Given the description of an element on the screen output the (x, y) to click on. 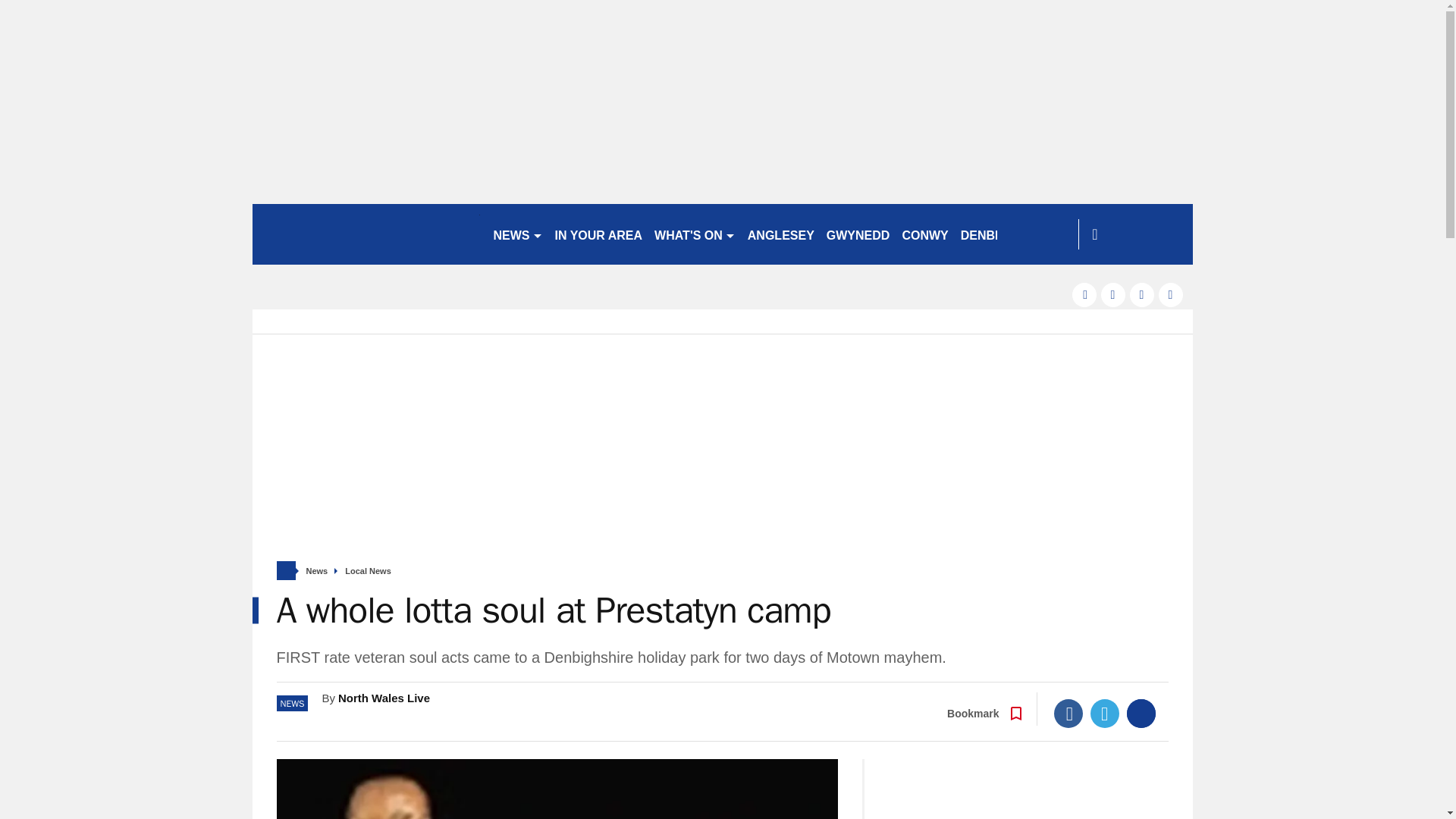
pinterest (1141, 294)
ANGLESEY (781, 233)
DENBIGHSHIRE (1007, 233)
instagram (1170, 294)
Facebook (1068, 713)
NEWS (517, 233)
Twitter (1104, 713)
facebook (1083, 294)
WHAT'S ON (694, 233)
GWYNEDD (858, 233)
